Given the description of an element on the screen output the (x, y) to click on. 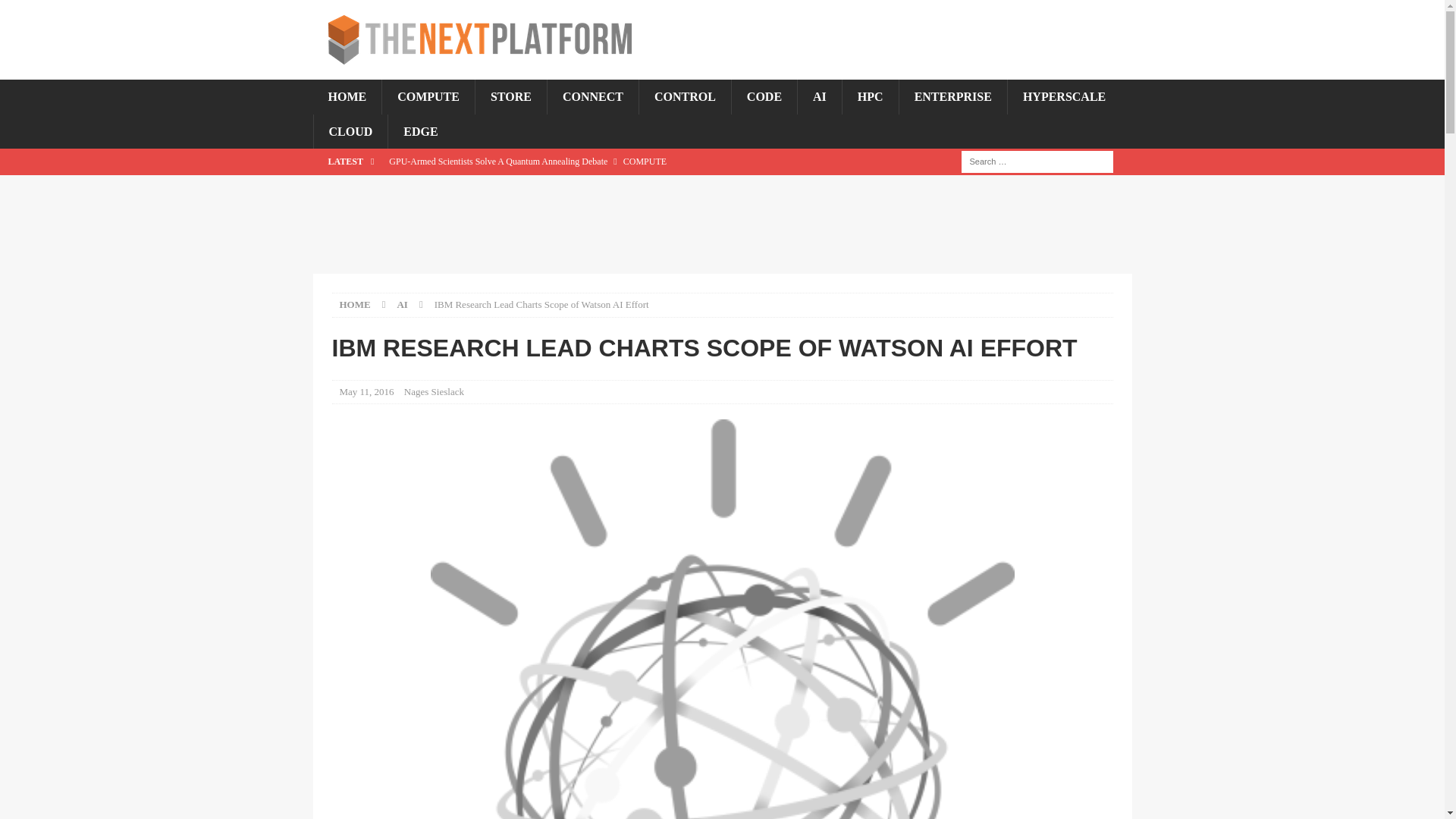
HOME (347, 96)
May 11, 2016 (366, 391)
Search (56, 11)
GPU-Armed Scientists Solve A Quantum Annealing Debate (611, 161)
ENTERPRISE (952, 96)
CONNECT (593, 96)
HYPERSCALE (1064, 96)
EDGE (419, 131)
CODE (763, 96)
HPC (869, 96)
3rd party ad content (721, 224)
AI (401, 304)
CONTROL (684, 96)
COMPUTE (427, 96)
